Given the description of an element on the screen output the (x, y) to click on. 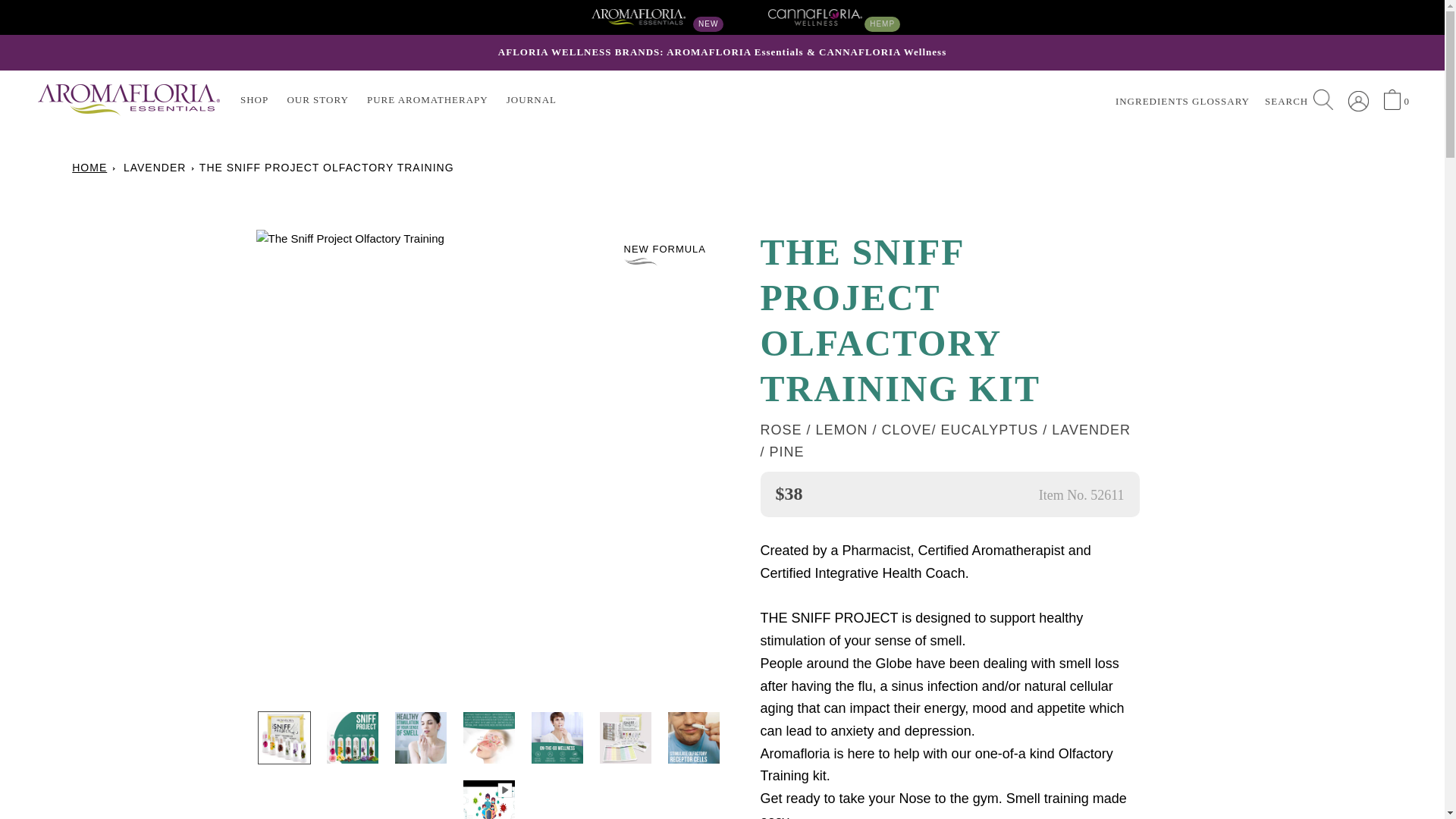
Cannafloria (815, 16)
Aromafloria (638, 16)
HEMP (815, 16)
NEW (638, 16)
SHOP (253, 99)
